Given the description of an element on the screen output the (x, y) to click on. 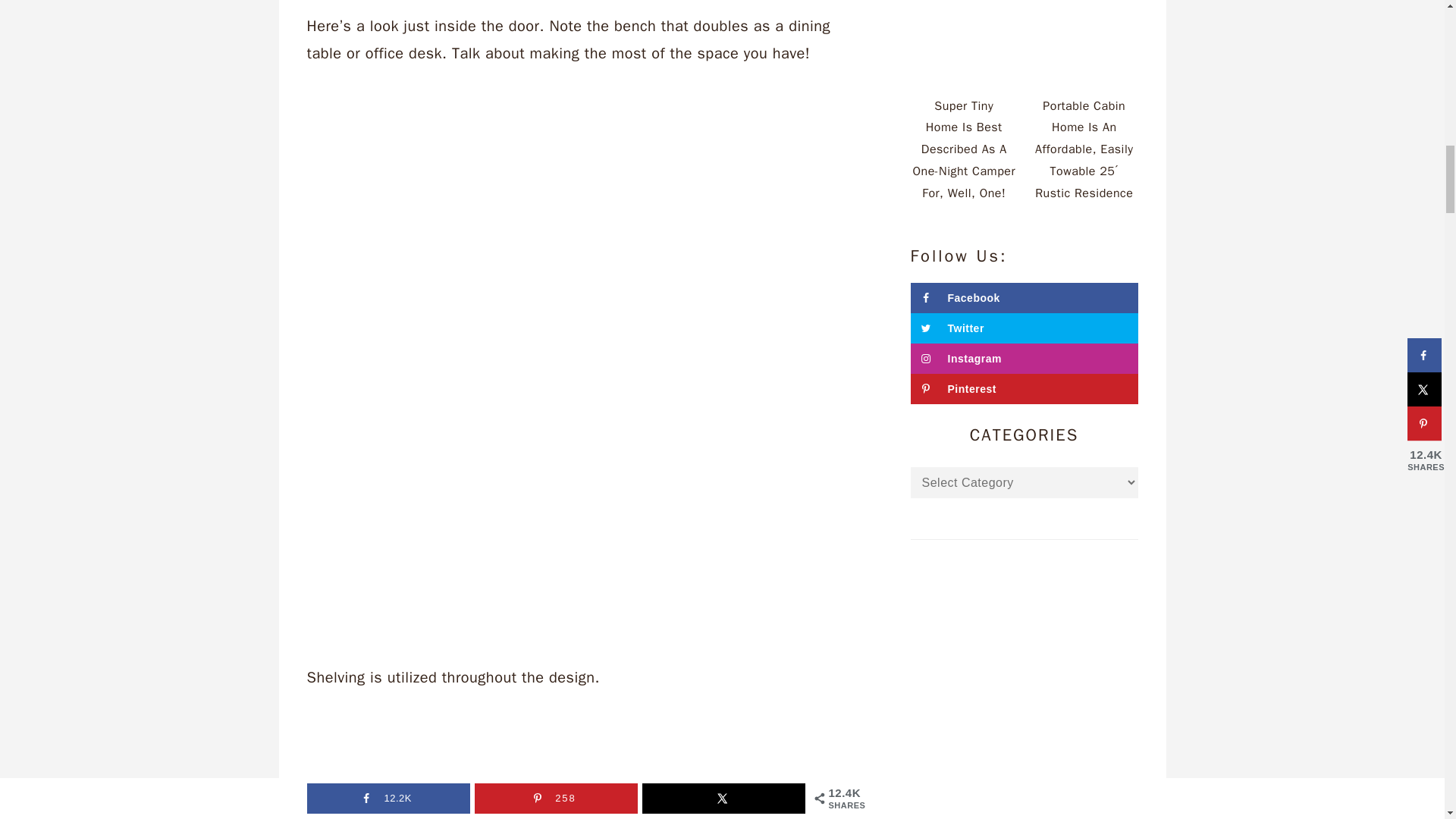
Follow on Instagram (1023, 358)
Follow on Facebook (1023, 297)
Follow on Twitter (1023, 327)
Follow on Pinterest (1023, 388)
